Given the description of an element on the screen output the (x, y) to click on. 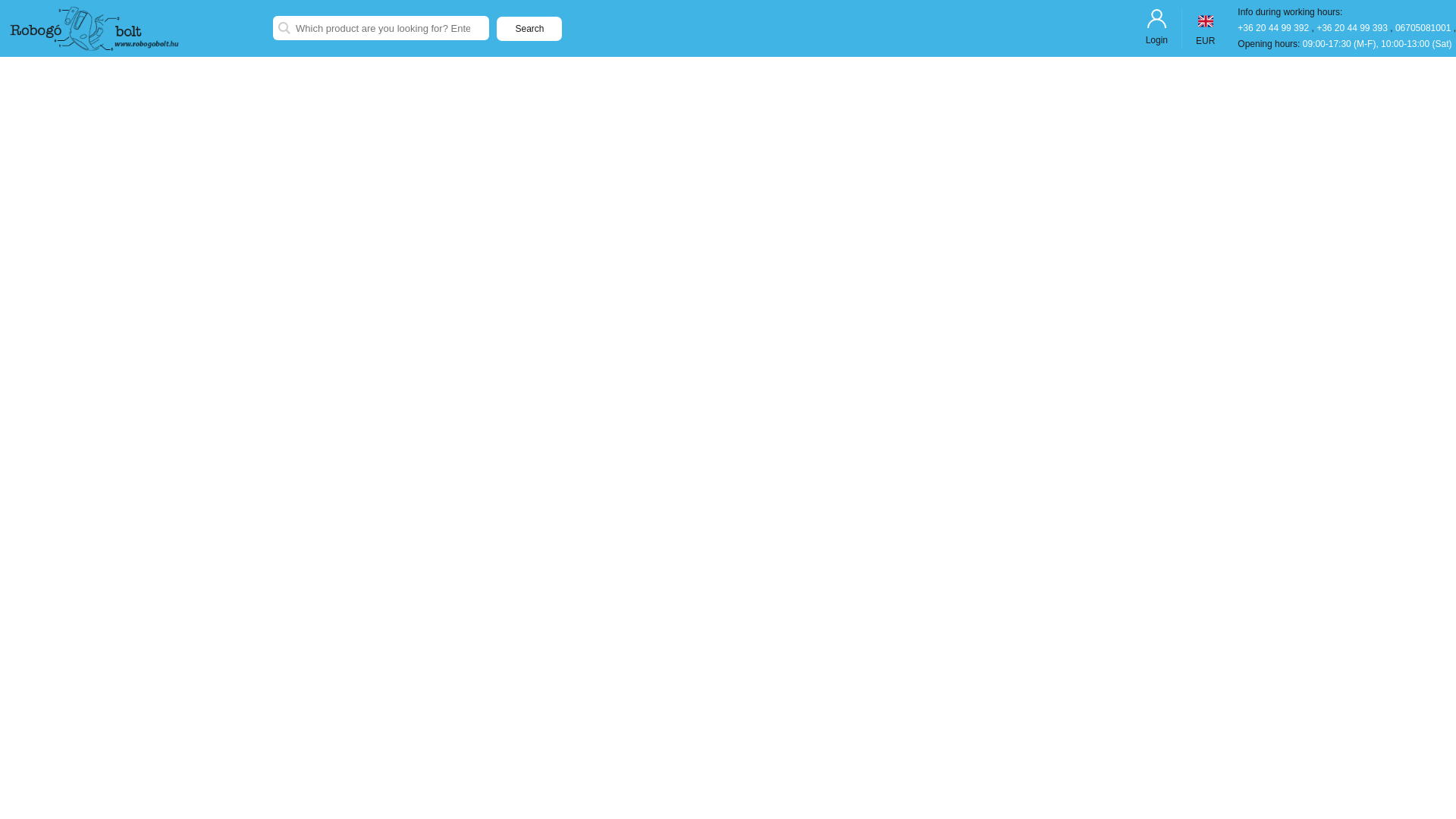
Search (529, 28)
Robogobolt (136, 28)
06705081001 (1423, 27)
